Given the description of an element on the screen output the (x, y) to click on. 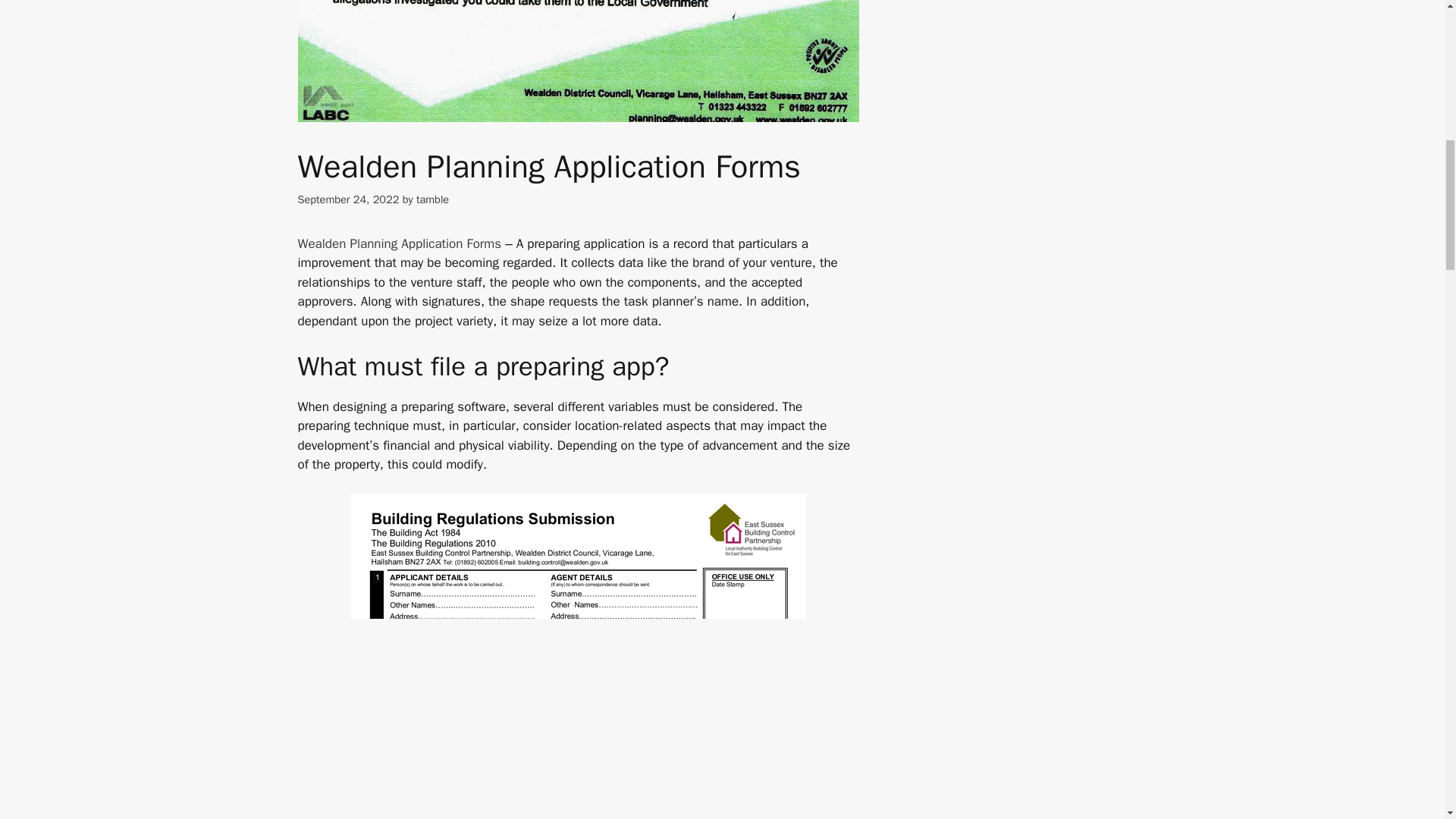
tamble (432, 199)
View all posts by tamble (432, 199)
Scroll back to top (1406, 720)
Wealden Planning Application Forms (398, 243)
